Given the description of an element on the screen output the (x, y) to click on. 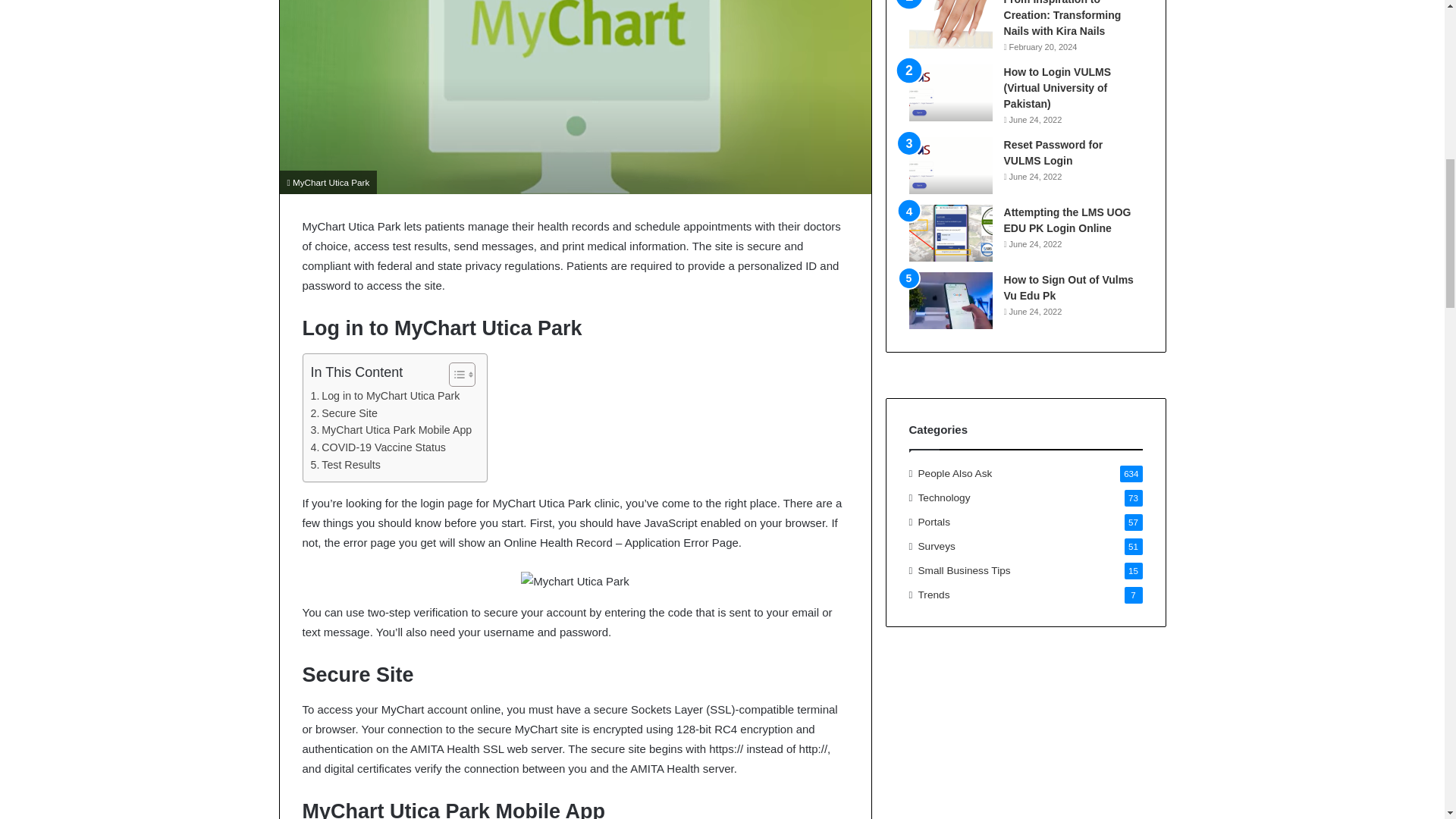
Secure Site (344, 413)
Log in to MyChart Utica Park (385, 395)
Log in to MyChart Utica Park (385, 395)
